Given the description of an element on the screen output the (x, y) to click on. 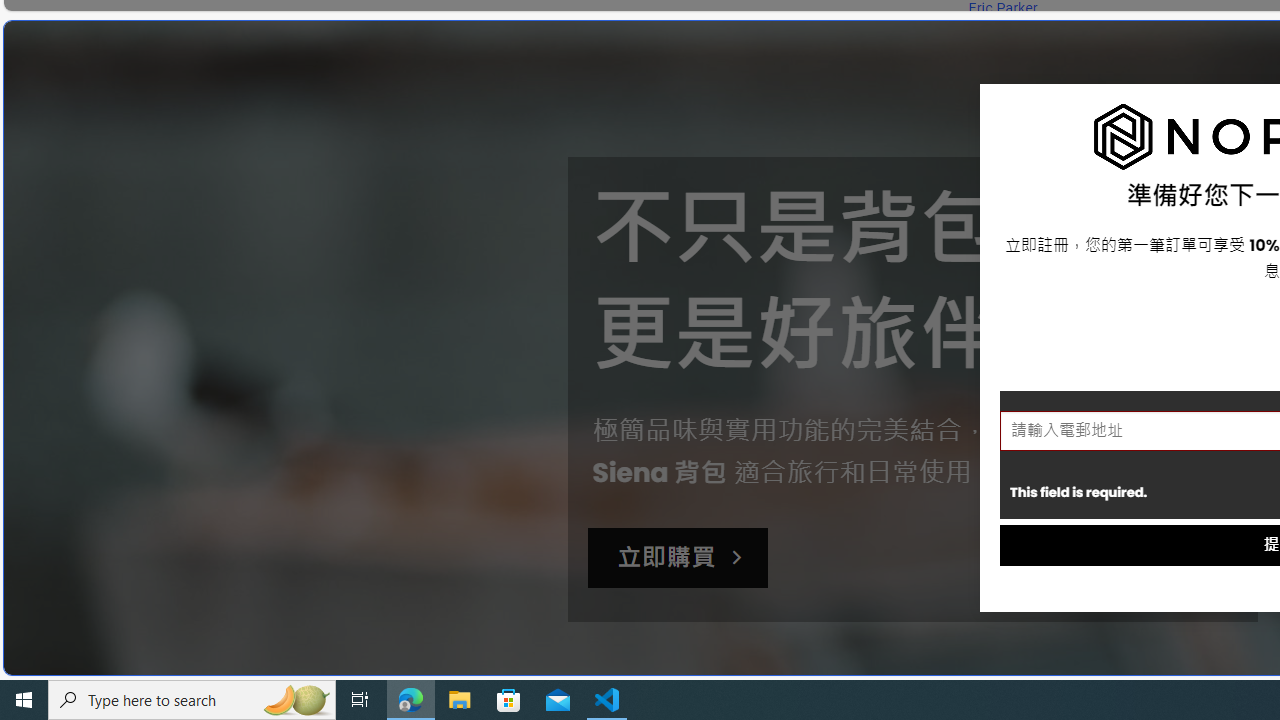
Eric Parker (1002, 8)
